Given the description of an element on the screen output the (x, y) to click on. 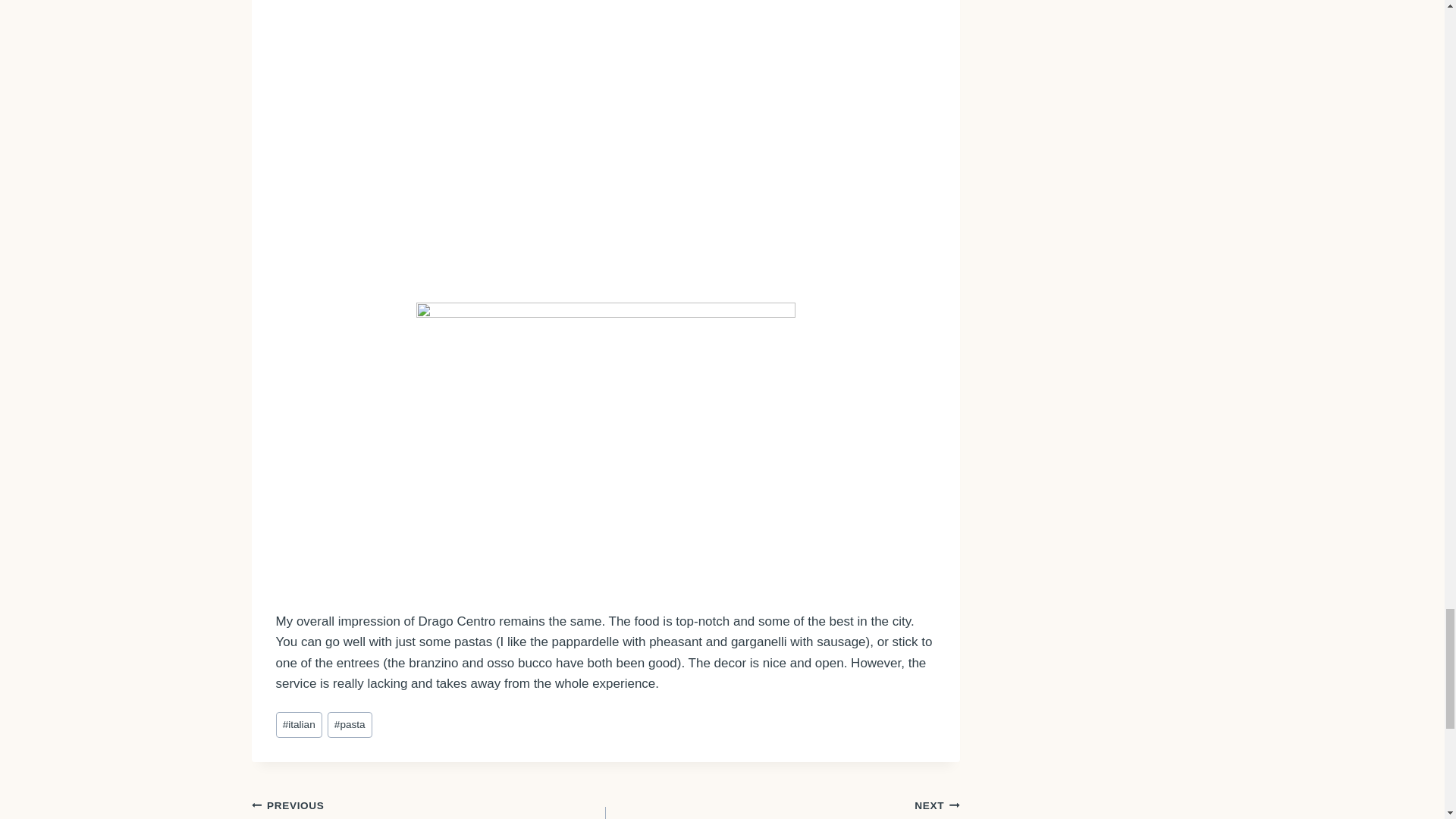
wine tower (458, 151)
pasta (349, 724)
italian (298, 724)
bar (605, 444)
